Given the description of an element on the screen output the (x, y) to click on. 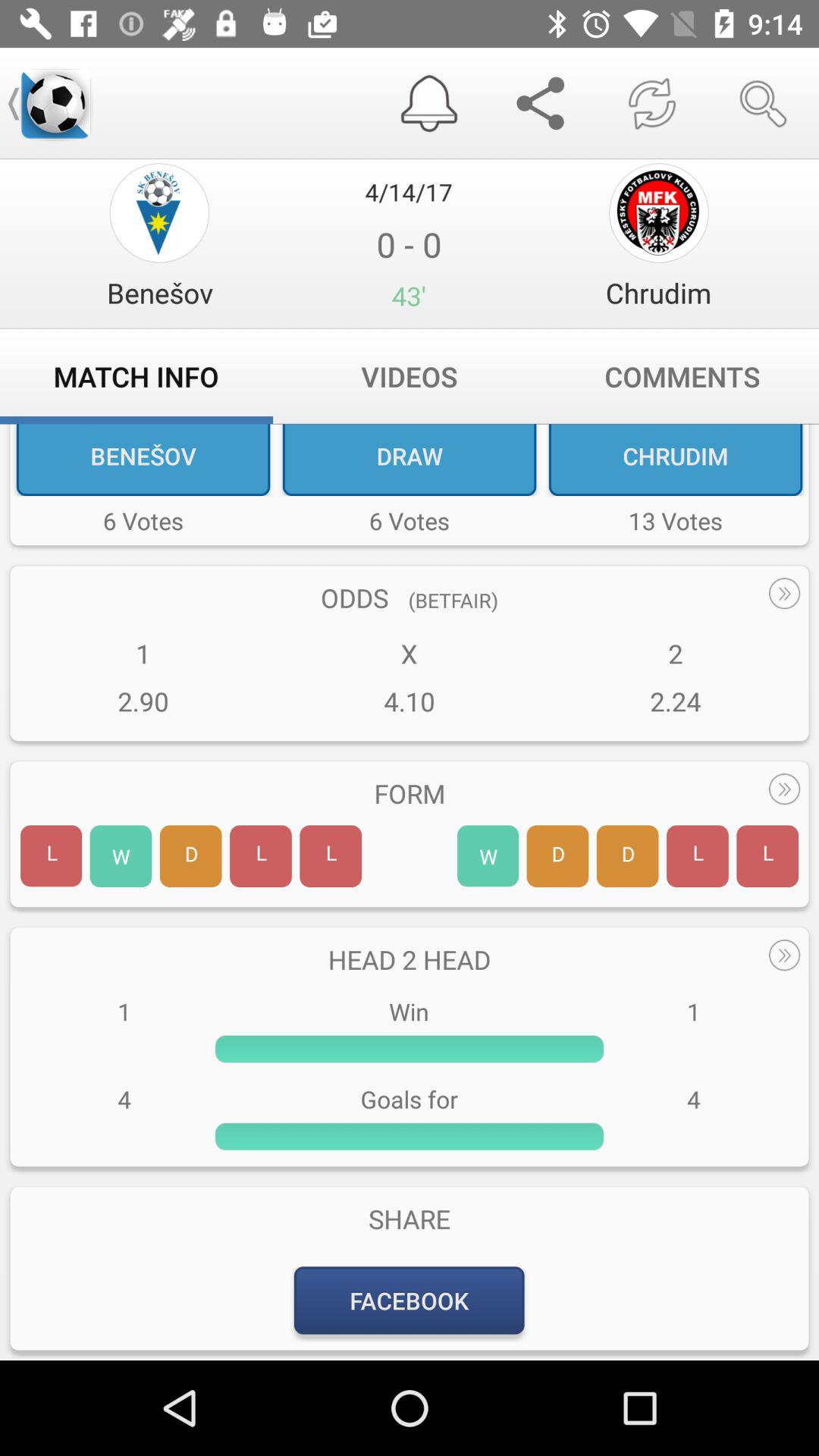
option page (159, 212)
